Given the description of an element on the screen output the (x, y) to click on. 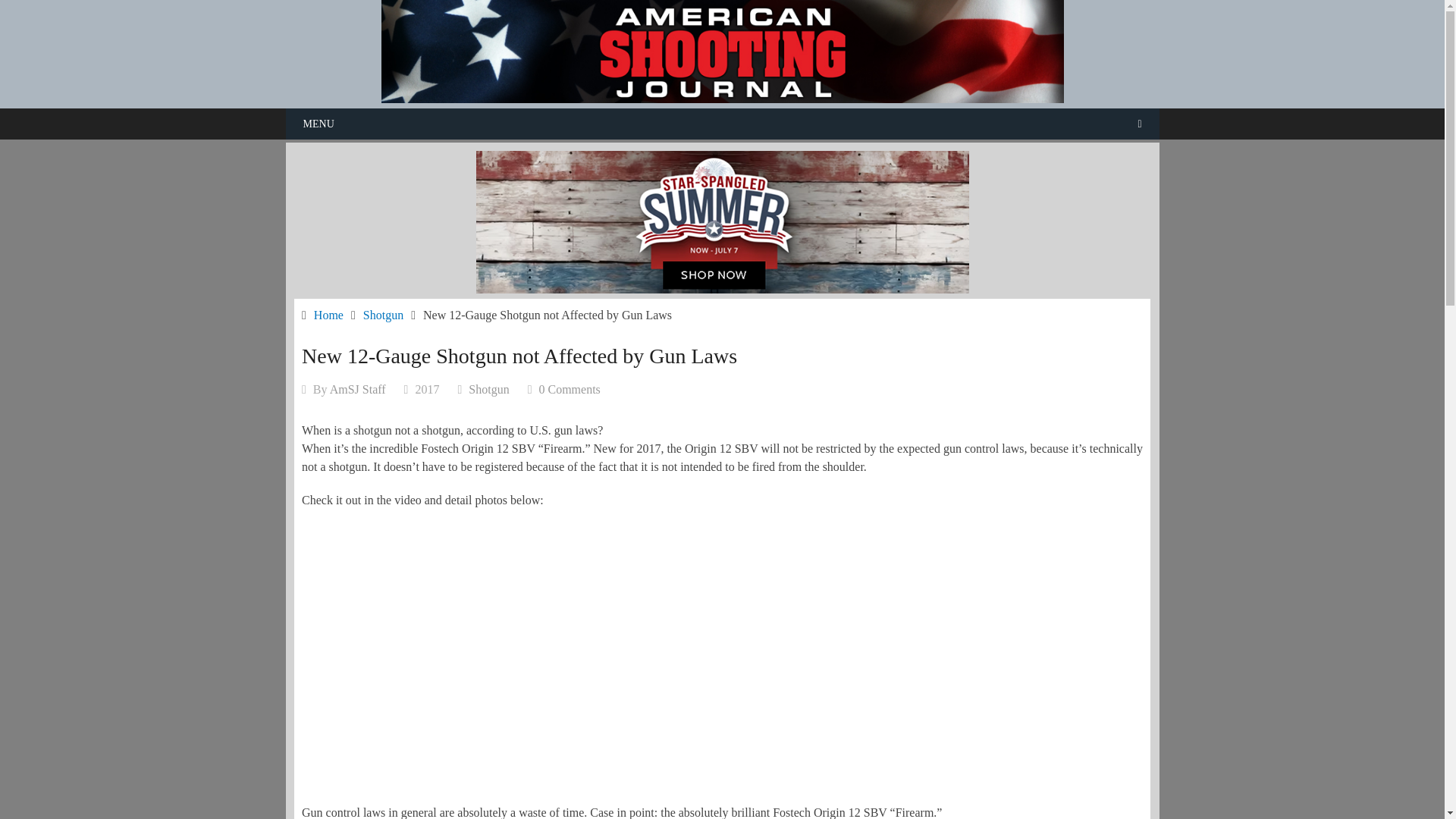
Posts by AmSJ Staff (357, 389)
MENU (721, 123)
